Given the description of an element on the screen output the (x, y) to click on. 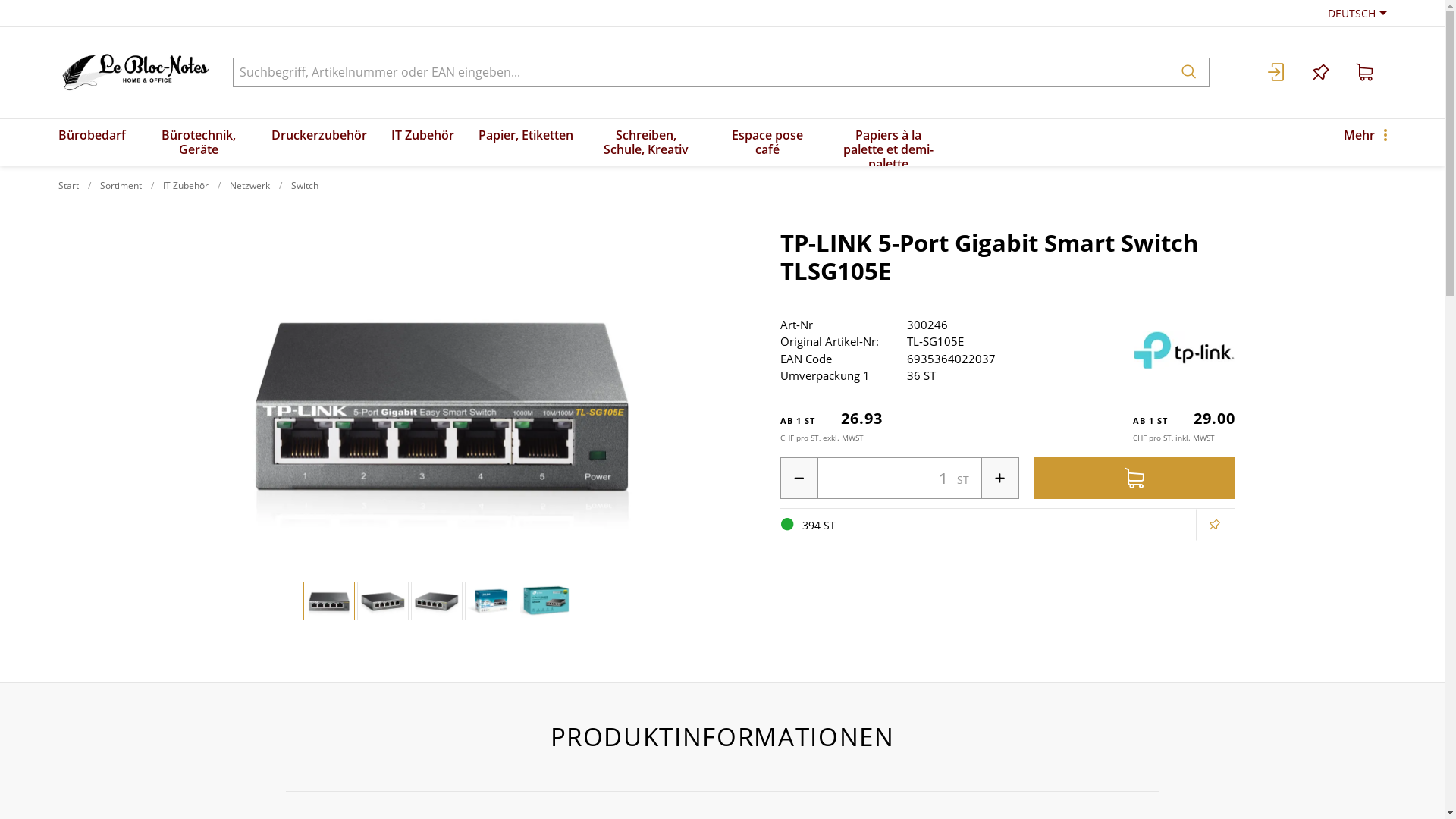
Warenkorb Element type: hover (1364, 72)
TP-LINK 5-Port Gigabit Smart Switch TLSG105E Element type: hover (490, 600)
TP-LINK 5-Port Gigabit Smart Switch TLSG105E Element type: hover (544, 600)
TP-LINK 5-Port Gigabit Smart Switch TLSG105E Element type: hover (436, 399)
In Warenkorb legen Element type: hover (1134, 477)
Netzwerk Element type: text (249, 184)
Mehr Element type: text (1365, 142)
Start Element type: text (67, 184)
394 ST  Element type: hover (785, 524)
TP-LINK 5-Port Gigabit Smart Switch TLSG105E Element type: hover (328, 600)
TP-LINK 5-Port Gigabit Smart Switch TLSG105E Element type: hover (382, 600)
Papier, Etiketten Element type: text (524, 142)
Anmelden Element type: hover (1276, 72)
TP-LINK Element type: hover (1183, 350)
Schreiben, Schule, Kreativ Element type: text (645, 142)
Switch Element type: text (304, 184)
Menge reduzieren Element type: hover (799, 477)
TP-LINK 5-Port Gigabit Smart Switch TLSG105E Element type: hover (436, 600)
Merkliste Element type: hover (1320, 72)
Sortiment Element type: text (120, 184)
